Given the description of an element on the screen output the (x, y) to click on. 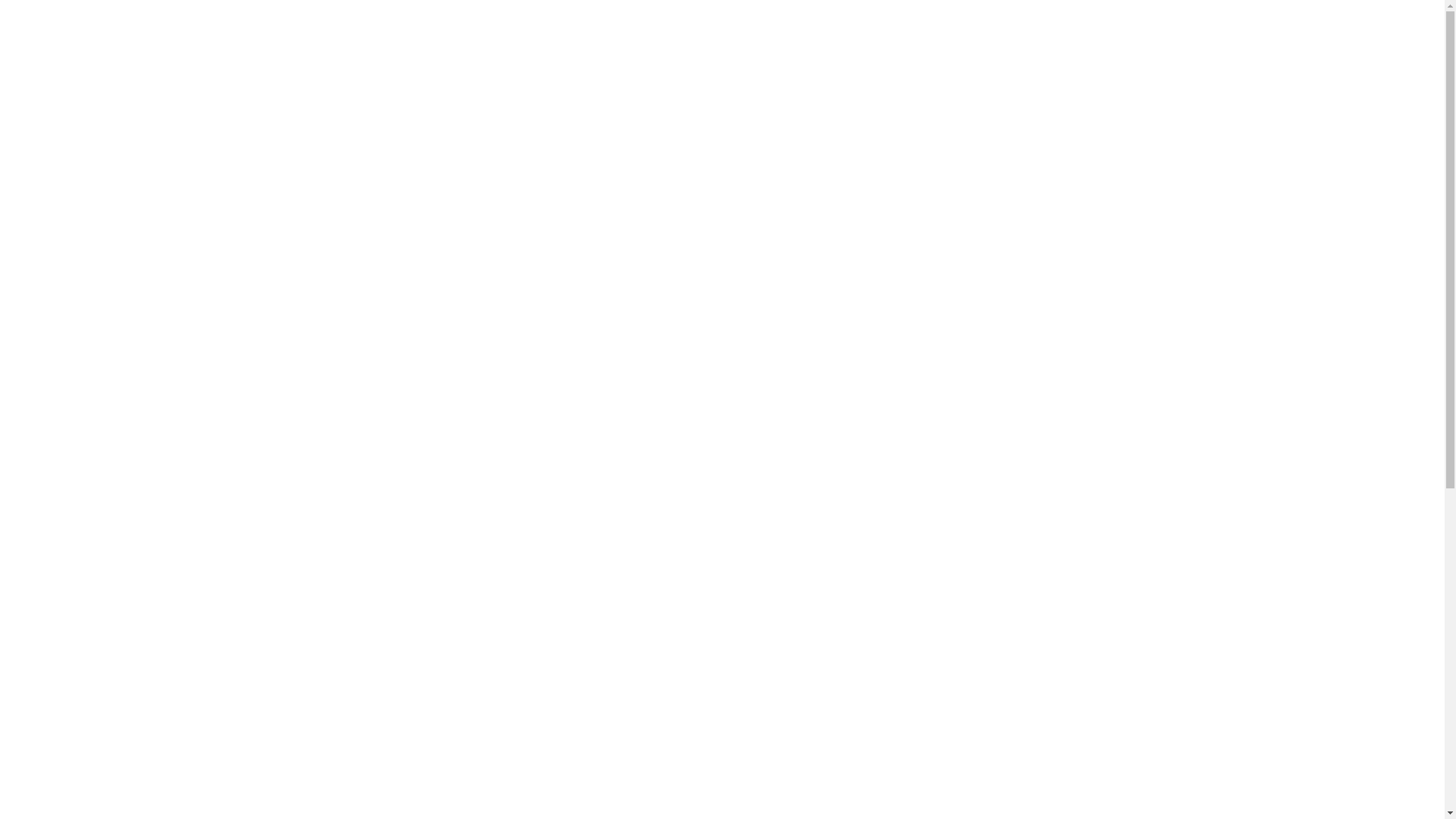
Mortgage Disputes Element type: text (935, 563)
Home Element type: text (955, 362)
Contact us Element type: text (666, 127)
Joint Venture & Partnership Disputes Element type: text (959, 528)
Construction Lien Element type: text (932, 588)
info@adlawyers.ca Element type: text (868, 68)
Practice Areas Element type: text (569, 127)
Home Element type: text (408, 127)
Banking & Piracy Litigation Element type: text (956, 492)
Real Estate Litigation Element type: text (940, 466)
About us Element type: text (476, 127)
Child Custody and Access Element type: text (952, 615)
